Given the description of an element on the screen output the (x, y) to click on. 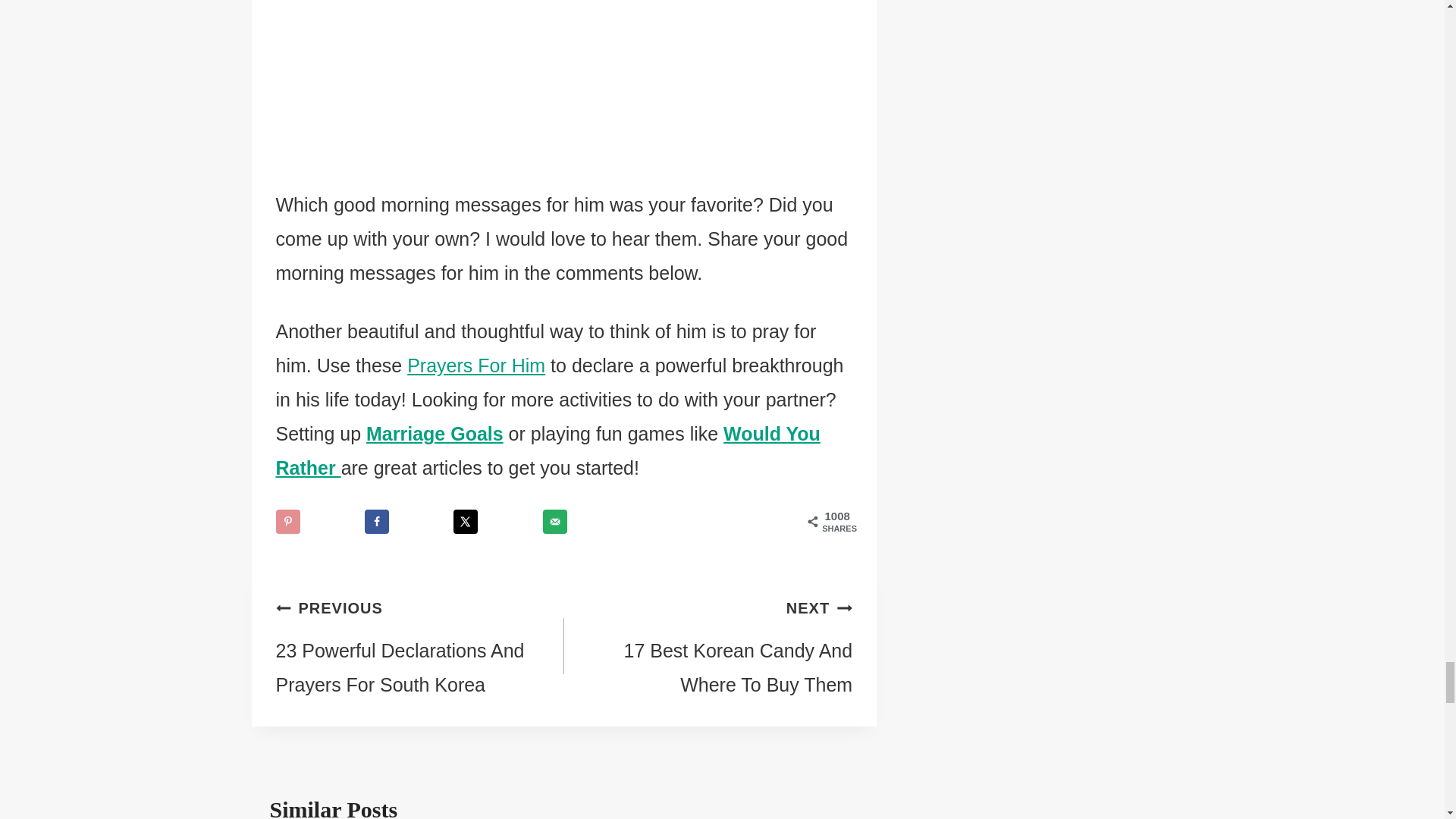
Share on Facebook (376, 521)
Send over email (555, 521)
Share on X (464, 521)
Save to Pinterest (287, 521)
